Given the description of an element on the screen output the (x, y) to click on. 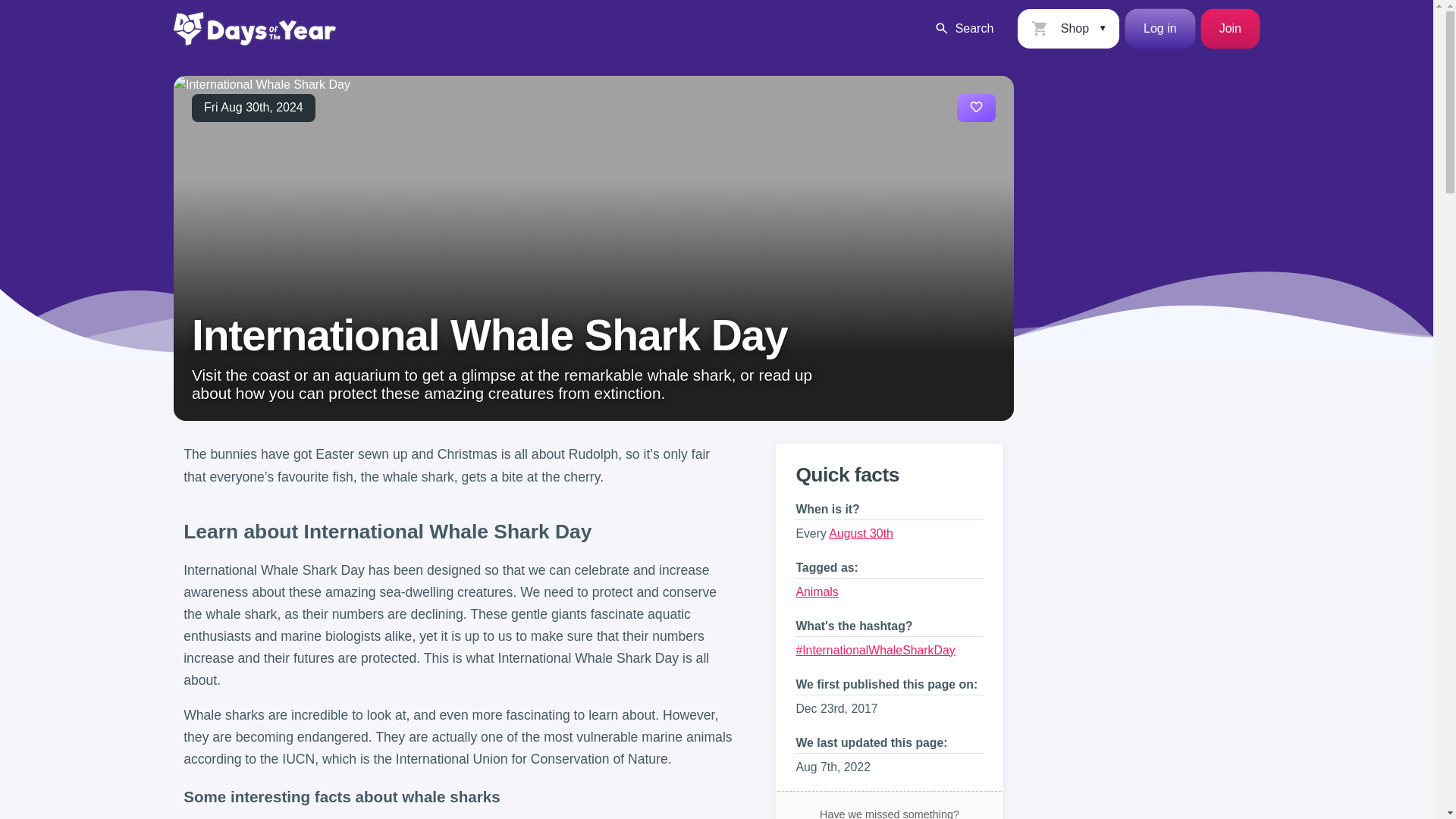
August 30th (860, 533)
Search (963, 28)
Animals (816, 591)
Log in (1160, 28)
Join (1230, 28)
Have we missed something? (890, 805)
